Given the description of an element on the screen output the (x, y) to click on. 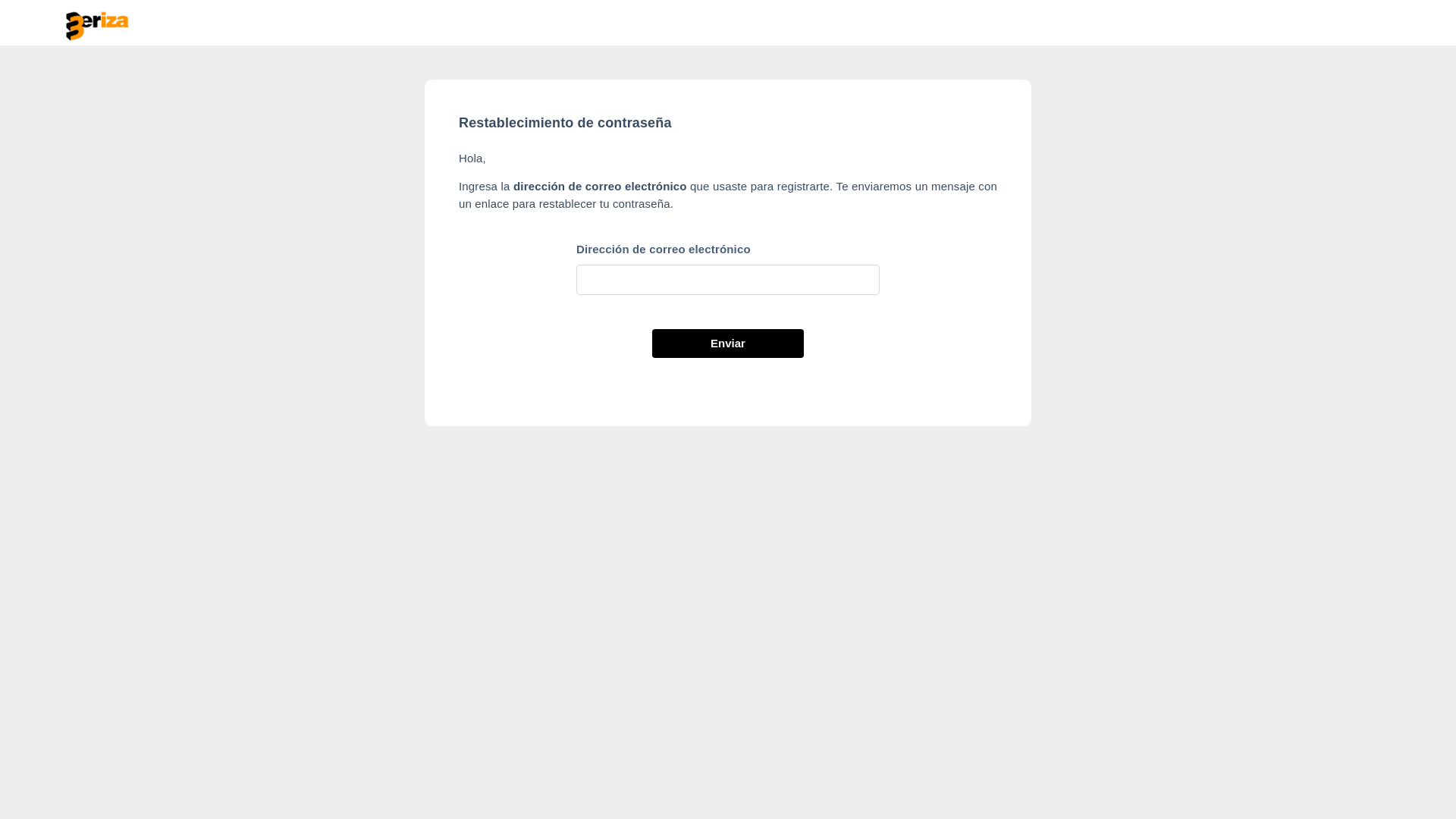
Enviar Element type: text (727, 343)
